Given the description of an element on the screen output the (x, y) to click on. 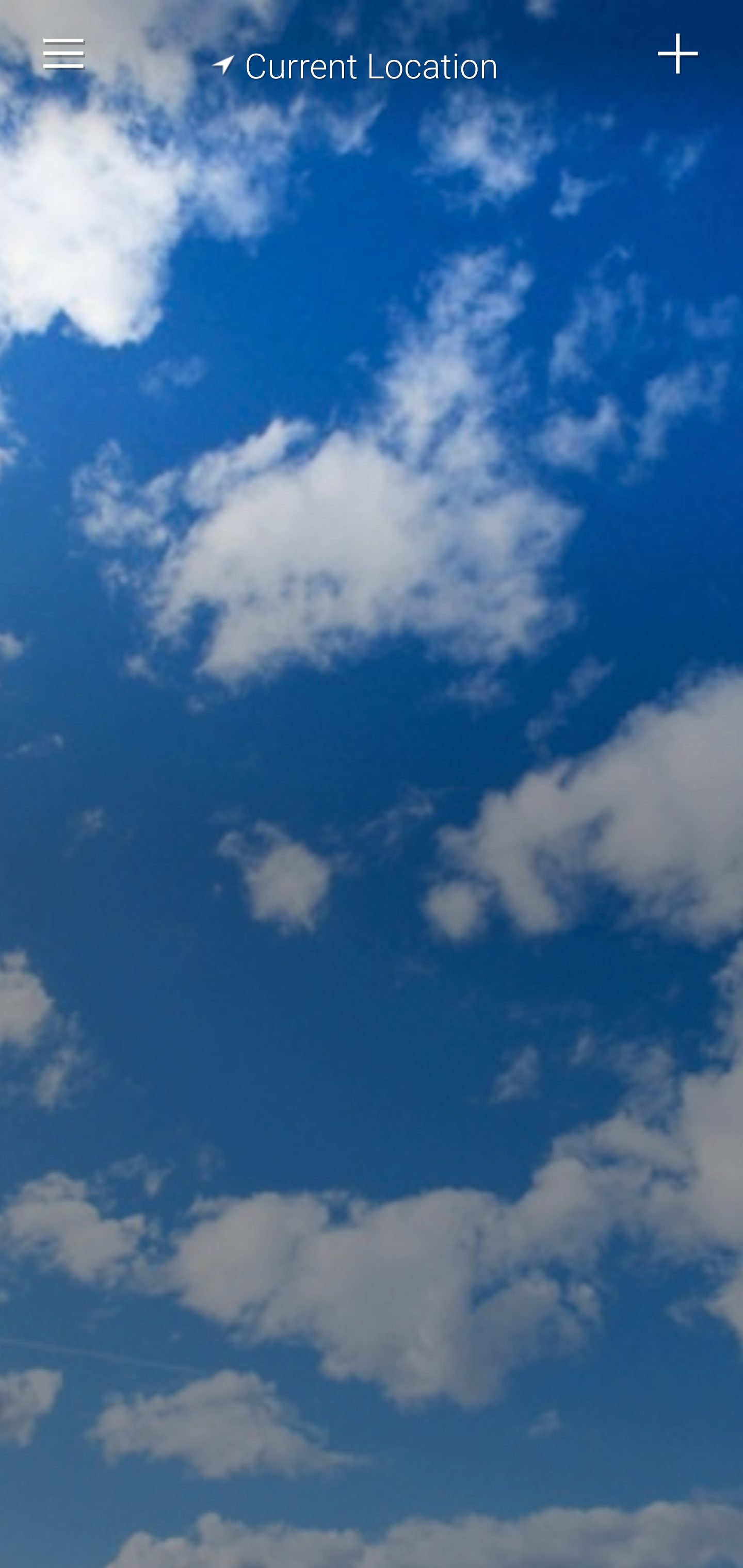
Sidebar (64, 54)
Add City (678, 53)
